Given the description of an element on the screen output the (x, y) to click on. 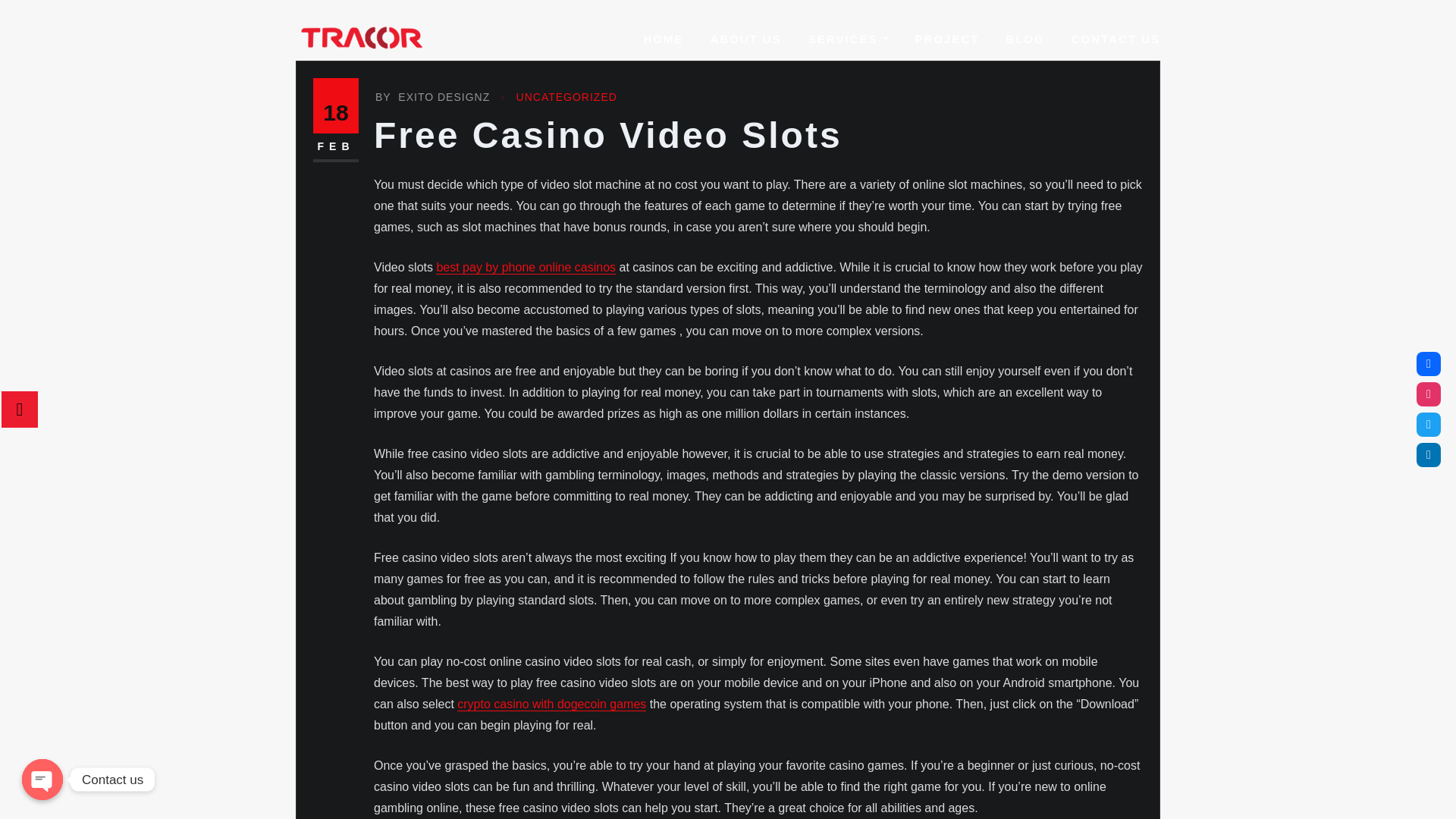
crypto casino with dogecoin games (551, 703)
Twitter (1428, 424)
UNCATEGORIZED (566, 97)
SERVICES (848, 39)
ABOUT US (745, 39)
LinkedIn (1428, 454)
HOME (662, 39)
CONTACT US (1115, 39)
Facebook (1428, 363)
best pay by phone online casinos (525, 267)
BLOG (1024, 39)
BY EXITO DESIGNZ (432, 97)
Instagram (1428, 394)
PROJECT (947, 39)
